Given the description of an element on the screen output the (x, y) to click on. 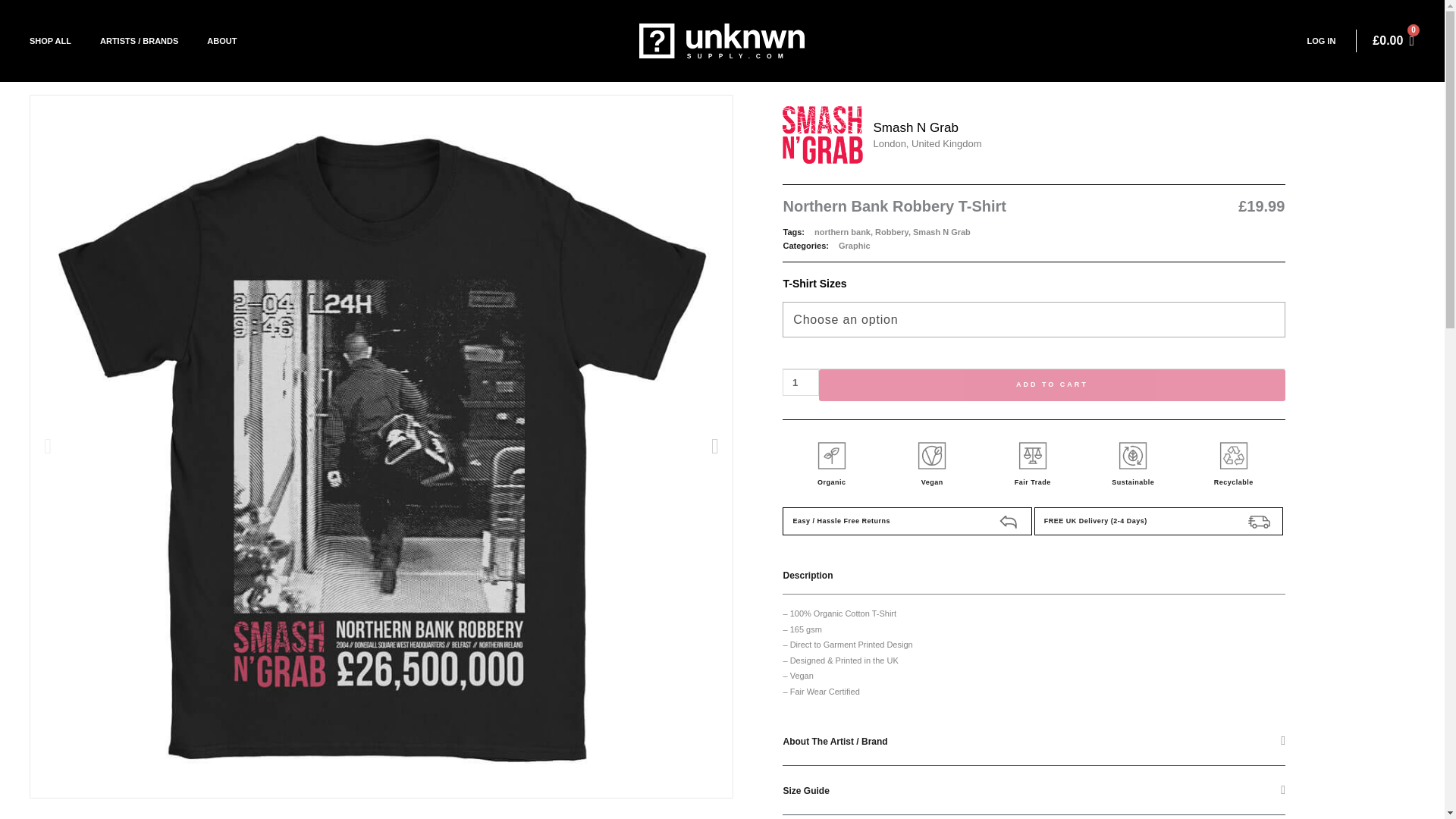
Robbery (891, 231)
LOG IN (1320, 40)
ABOUT (221, 40)
1 (800, 382)
SHOP ALL (49, 40)
ADD TO CART (1051, 385)
Size Guide (805, 790)
View your shopping cart (1393, 40)
Smash N Grab (941, 231)
Smash N Grab (915, 126)
